Given the description of an element on the screen output the (x, y) to click on. 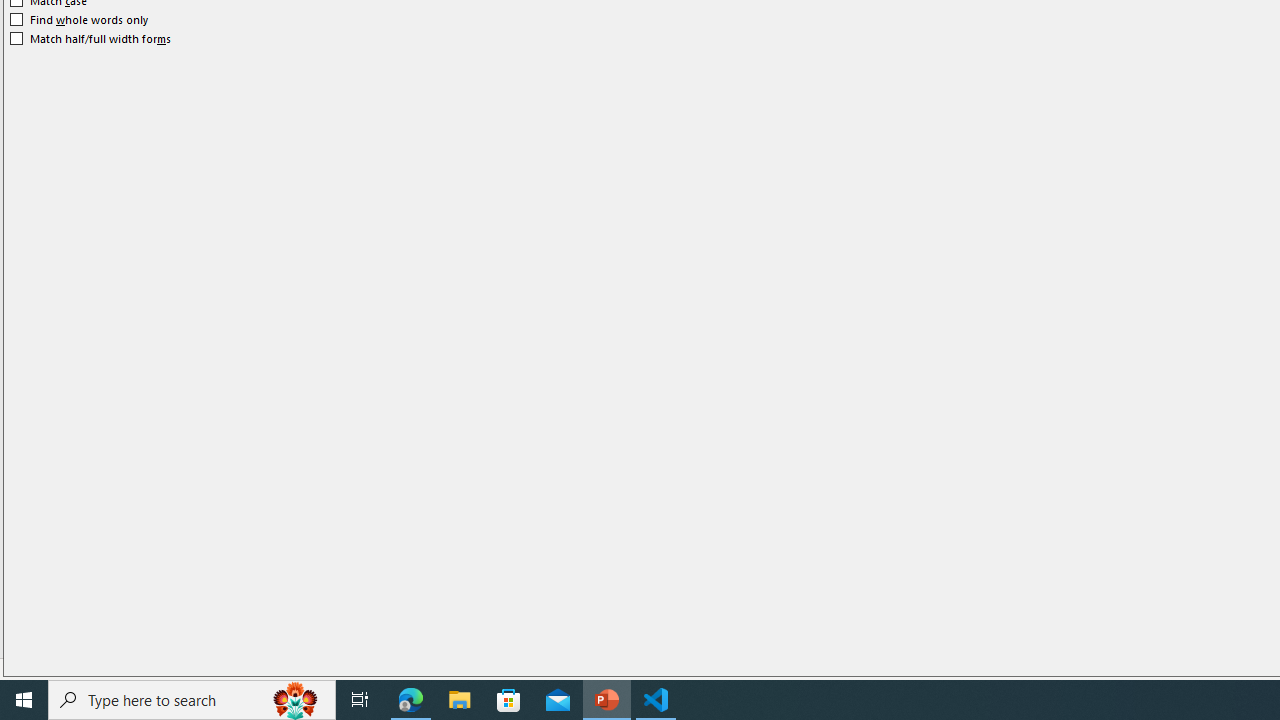
Match half/full width forms (91, 38)
Find whole words only (79, 20)
